Given the description of an element on the screen output the (x, y) to click on. 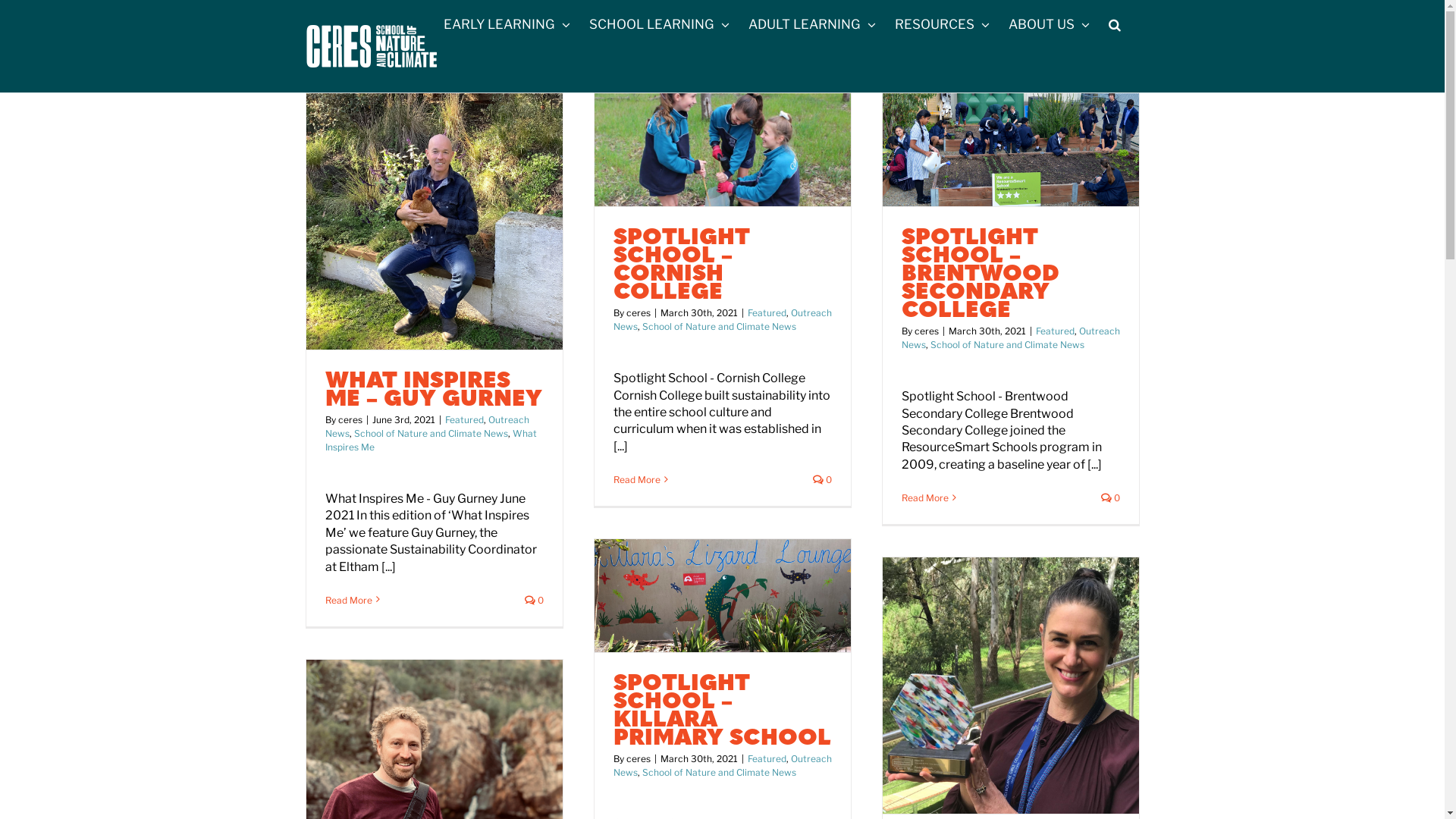
Outreach News Element type: text (426, 426)
Read More Element type: text (635, 479)
ADULT LEARNING Element type: text (811, 24)
Read More Element type: text (923, 497)
What Inspires Me Element type: text (430, 439)
EARLY LEARNING Element type: text (505, 24)
ABOUT US Element type: text (1048, 24)
 0 Element type: text (1110, 497)
RESOURCES Element type: text (941, 24)
School of Nature and Climate News Element type: text (718, 772)
 0 Element type: text (821, 479)
School of Nature and Climate News Element type: text (1006, 344)
School of Nature and Climate News Element type: text (430, 433)
SCHOOL LEARNING Element type: text (658, 24)
School of Nature and Climate News Element type: text (718, 326)
Outreach News Element type: text (721, 319)
Outreach News Element type: text (1009, 337)
Featured Element type: text (463, 419)
Outreach News Element type: text (721, 765)
Featured Element type: text (766, 312)
Search Element type: hover (1114, 24)
Featured Element type: text (766, 758)
 0 Element type: text (533, 599)
Read More Element type: text (347, 599)
Featured Element type: text (1054, 330)
